Given the description of an element on the screen output the (x, y) to click on. 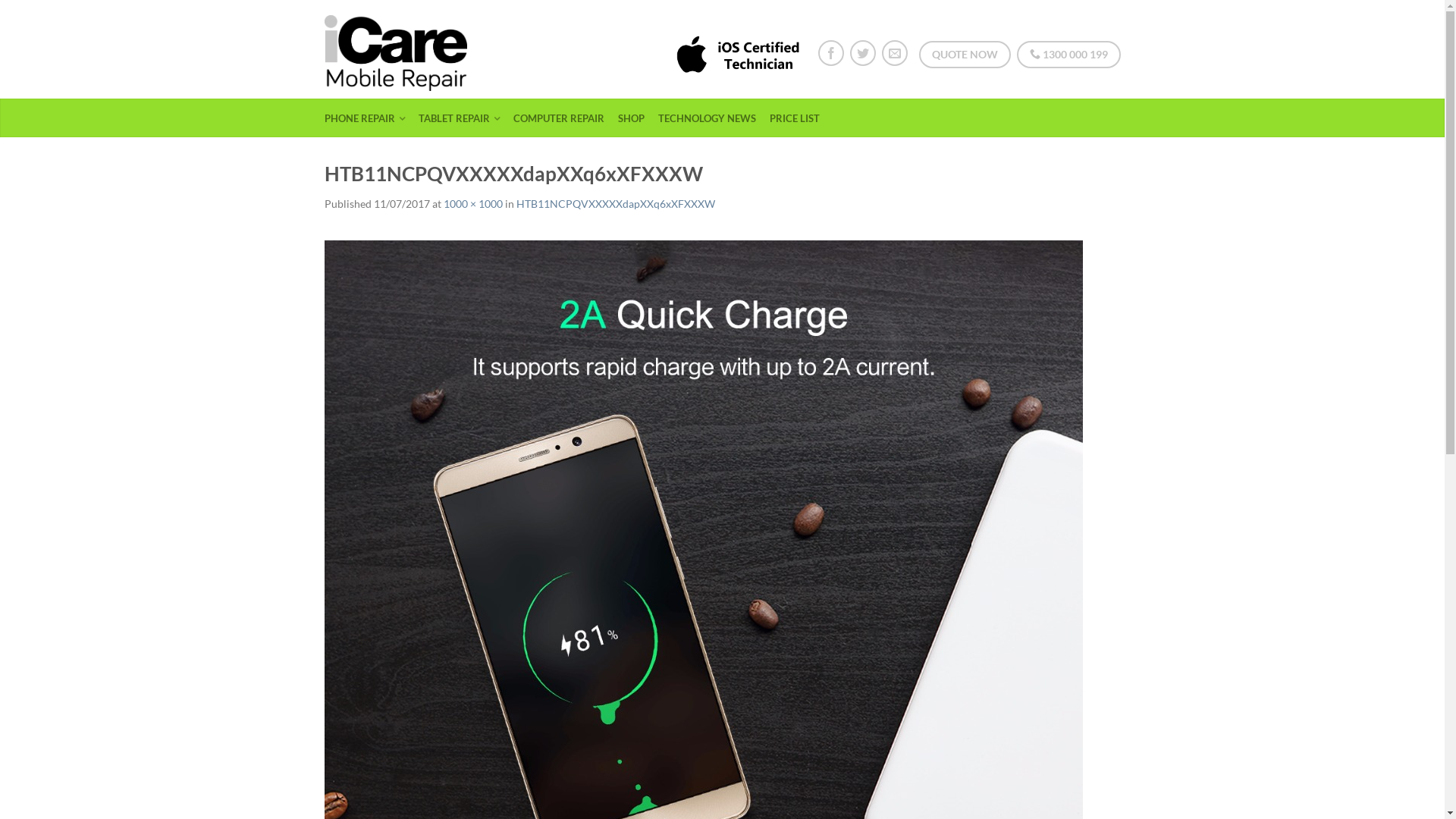
TABLET REPAIR Element type: text (464, 117)
QUOTE NOW Element type: text (964, 54)
PRICE LIST Element type: text (799, 117)
HTB11NCPQVXXXXXdapXXq6xXFXXXW Element type: text (614, 203)
COMPUTER REPAIR Element type: text (563, 117)
SHOP Element type: text (636, 117)
PHONE REPAIR Element type: text (370, 117)
1300 000 199 Element type: text (1068, 54)
TECHNOLOGY NEWS Element type: text (712, 117)
HTB11NCPQVXXXXXdapXXq6xXFXXXW Element type: hover (703, 617)
